Given the description of an element on the screen output the (x, y) to click on. 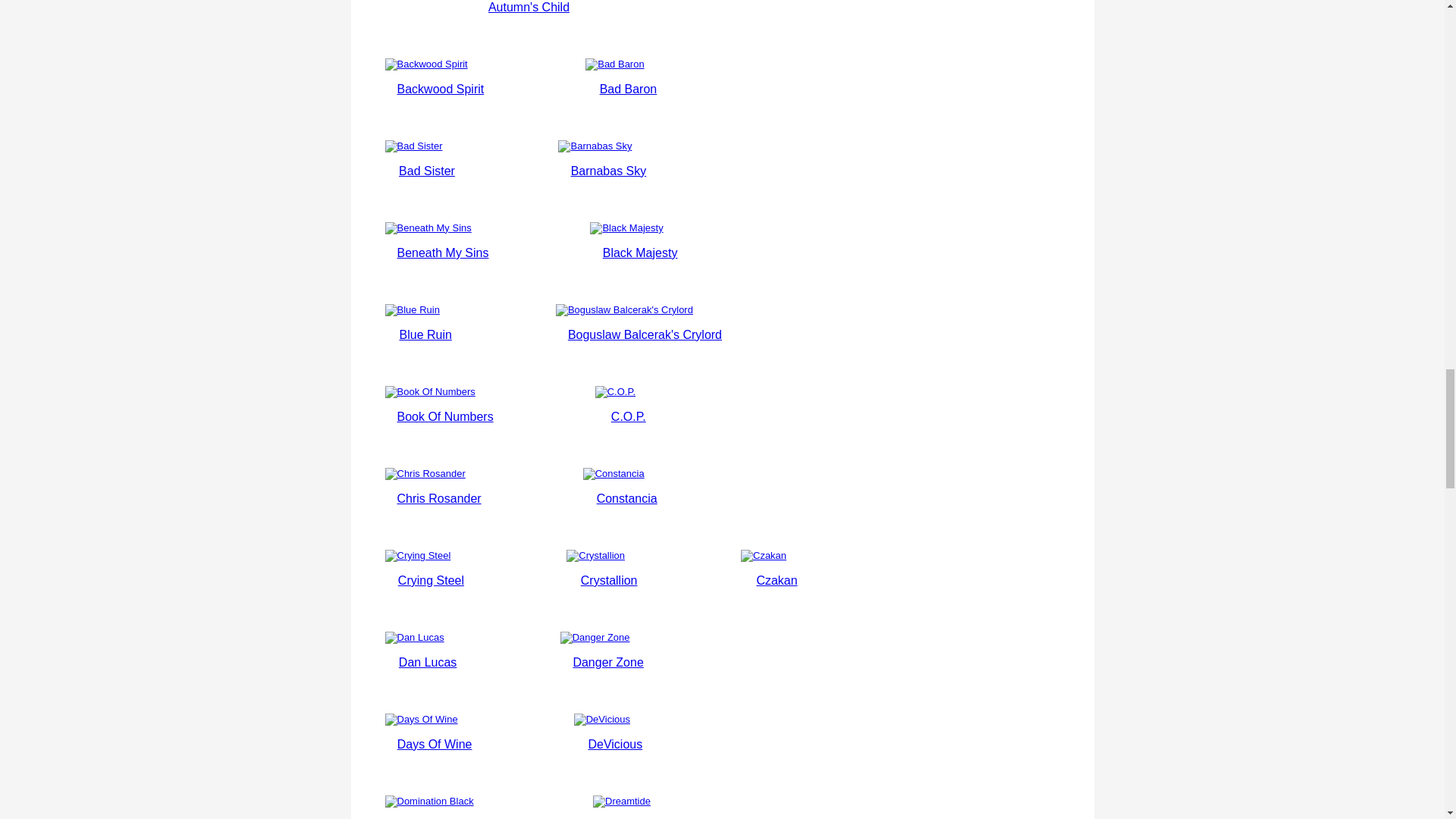
Backwood Spirit (440, 88)
Autumn's Child (528, 6)
Bad Sister (426, 170)
Backwood Spirit (440, 64)
Bad Baron (627, 64)
Black Majesty (640, 252)
Autumn's Child (528, 6)
Backwood Spirit (440, 88)
Bad Baron (628, 88)
Barnabas Sky (608, 170)
Beneath My Sins (443, 252)
Boguslaw Balcerak's Crylord (644, 334)
Blue Ruin (424, 334)
Bad Baron (628, 88)
